Given the description of an element on the screen output the (x, y) to click on. 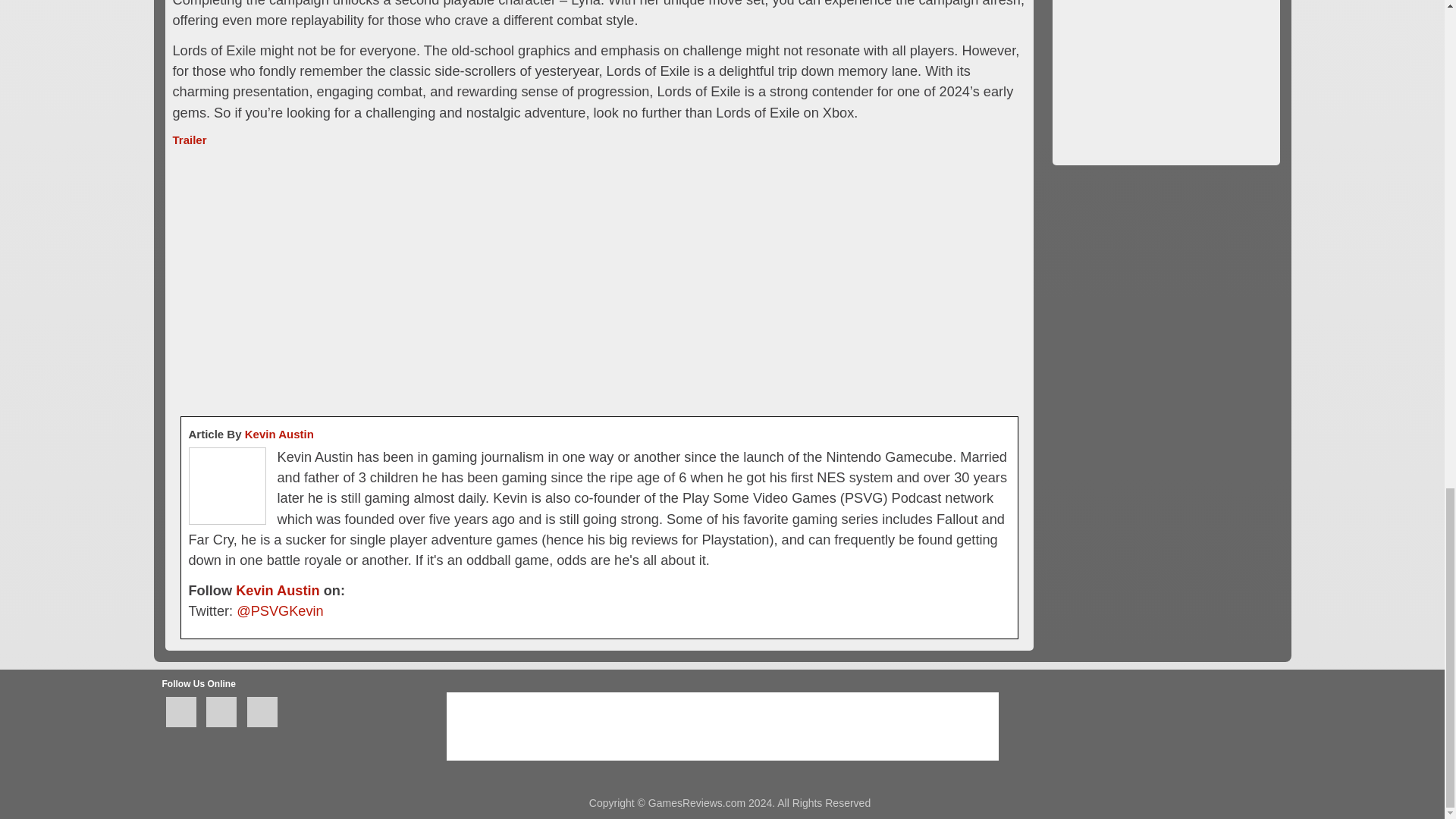
Follow Us On Facebook (180, 711)
Posts by Kevin Austin (276, 590)
Follow Us On Twitter (220, 711)
Posts by Kevin Austin (279, 433)
